Given the description of an element on the screen output the (x, y) to click on. 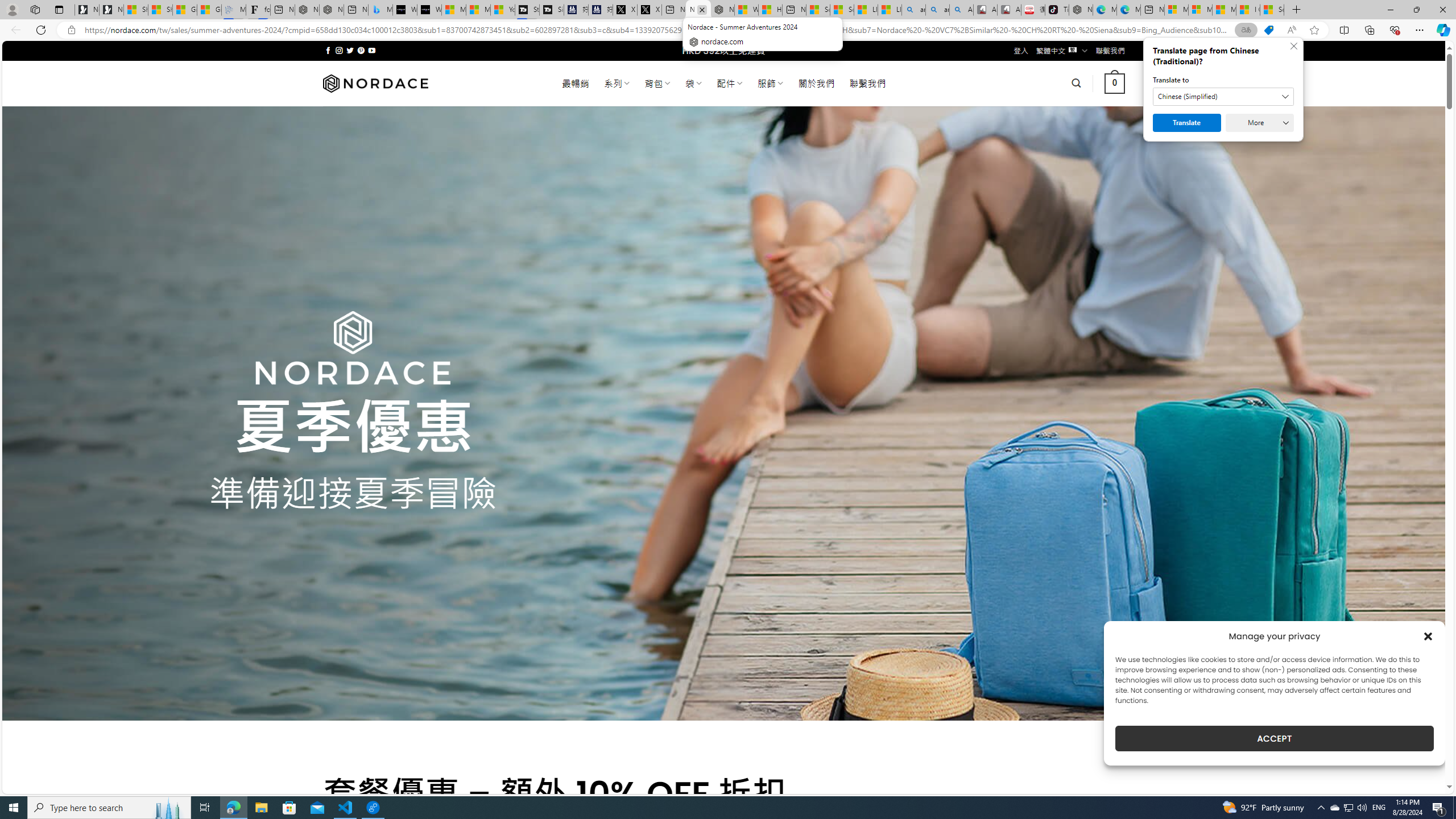
Follow on Instagram (338, 50)
I Gained 20 Pounds of Muscle in 30 Days! | Watch (1248, 9)
Translate (1187, 122)
Follow on YouTube (371, 50)
